Given the description of an element on the screen output the (x, y) to click on. 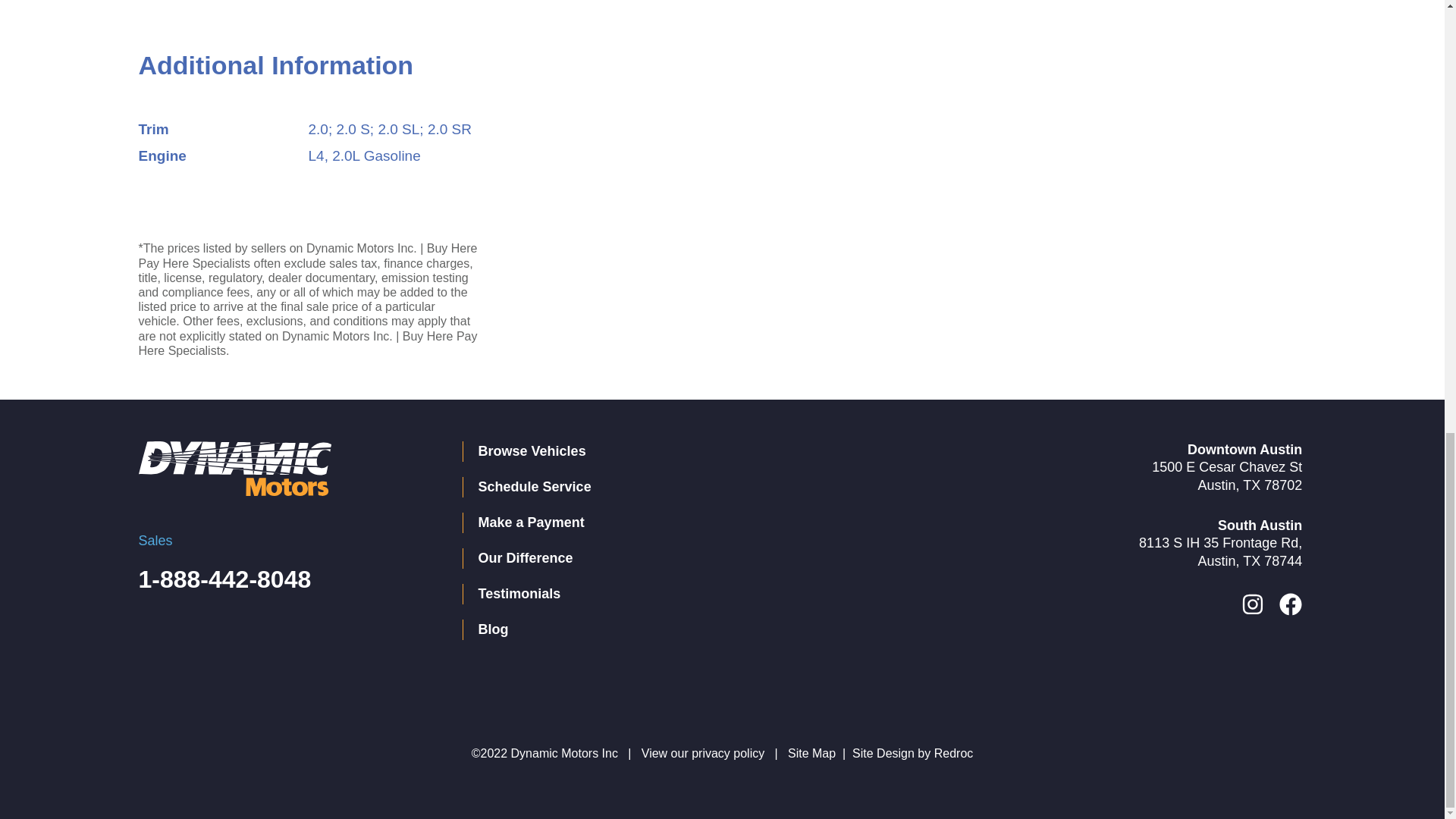
Blog (685, 629)
Schedule Service (685, 486)
1-888-442-8048 (224, 578)
Browse Vehicles (685, 451)
Testimonials (685, 593)
Our Difference (685, 557)
Make a Payment (685, 522)
